Given the description of an element on the screen output the (x, y) to click on. 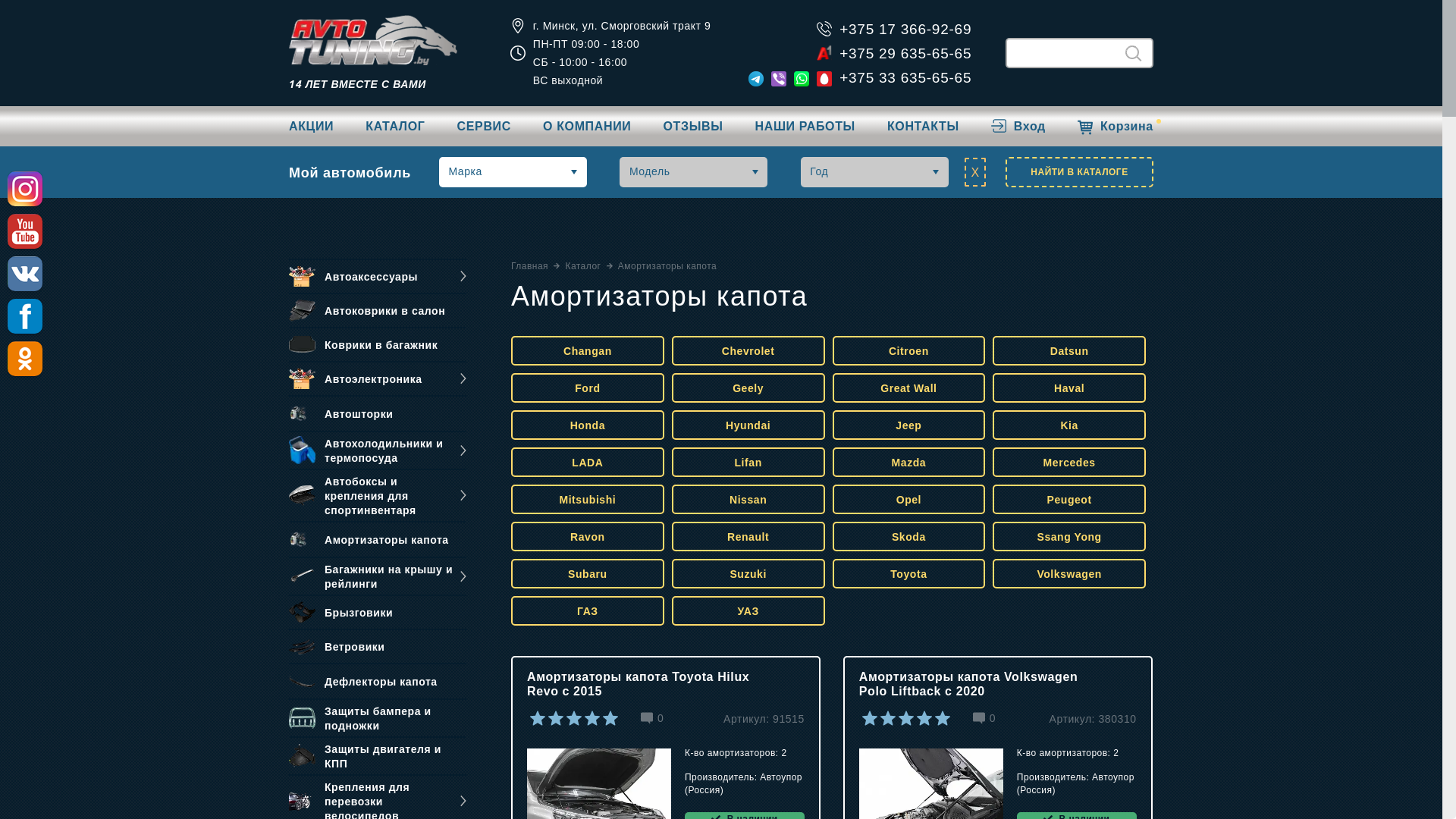
Ssang Yong Element type: text (1068, 536)
Mazda Element type: text (908, 461)
Jeep Element type: text (908, 424)
Hyundai Element type: text (748, 424)
+375 33 635-65-65 Element type: text (905, 77)
Haval Element type: text (1068, 387)
Subaru Element type: text (587, 573)
Honda Element type: text (587, 424)
Mitsubishi Element type: text (587, 499)
Datsun Element type: text (1068, 350)
Peugeot Element type: text (1068, 499)
LADA Element type: text (587, 461)
Suzuki Element type: text (748, 573)
Chevrolet Element type: text (748, 350)
Nissan Element type: text (748, 499)
Mercedes Element type: text (1068, 461)
Geely Element type: text (748, 387)
Toyota Element type: text (908, 573)
Ravon Element type: text (587, 536)
Kia Element type: text (1068, 424)
Ford Element type: text (587, 387)
Skoda Element type: text (908, 536)
Changan Element type: text (587, 350)
+375 17 366-92-69 Element type: text (905, 28)
Lifan Element type: text (748, 461)
Citroen Element type: text (908, 350)
+375 29 635-65-65 Element type: text (905, 52)
Renault Element type: text (748, 536)
Volkswagen Element type: text (1068, 573)
Great Wall Element type: text (908, 387)
Opel Element type: text (908, 499)
